Given the description of an element on the screen output the (x, y) to click on. 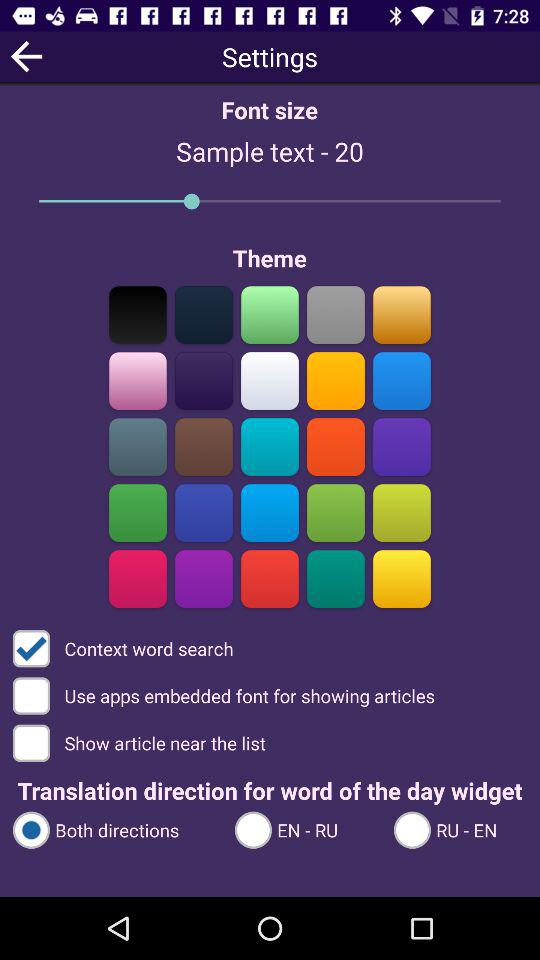
select the color bar (137, 446)
